Given the description of an element on the screen output the (x, y) to click on. 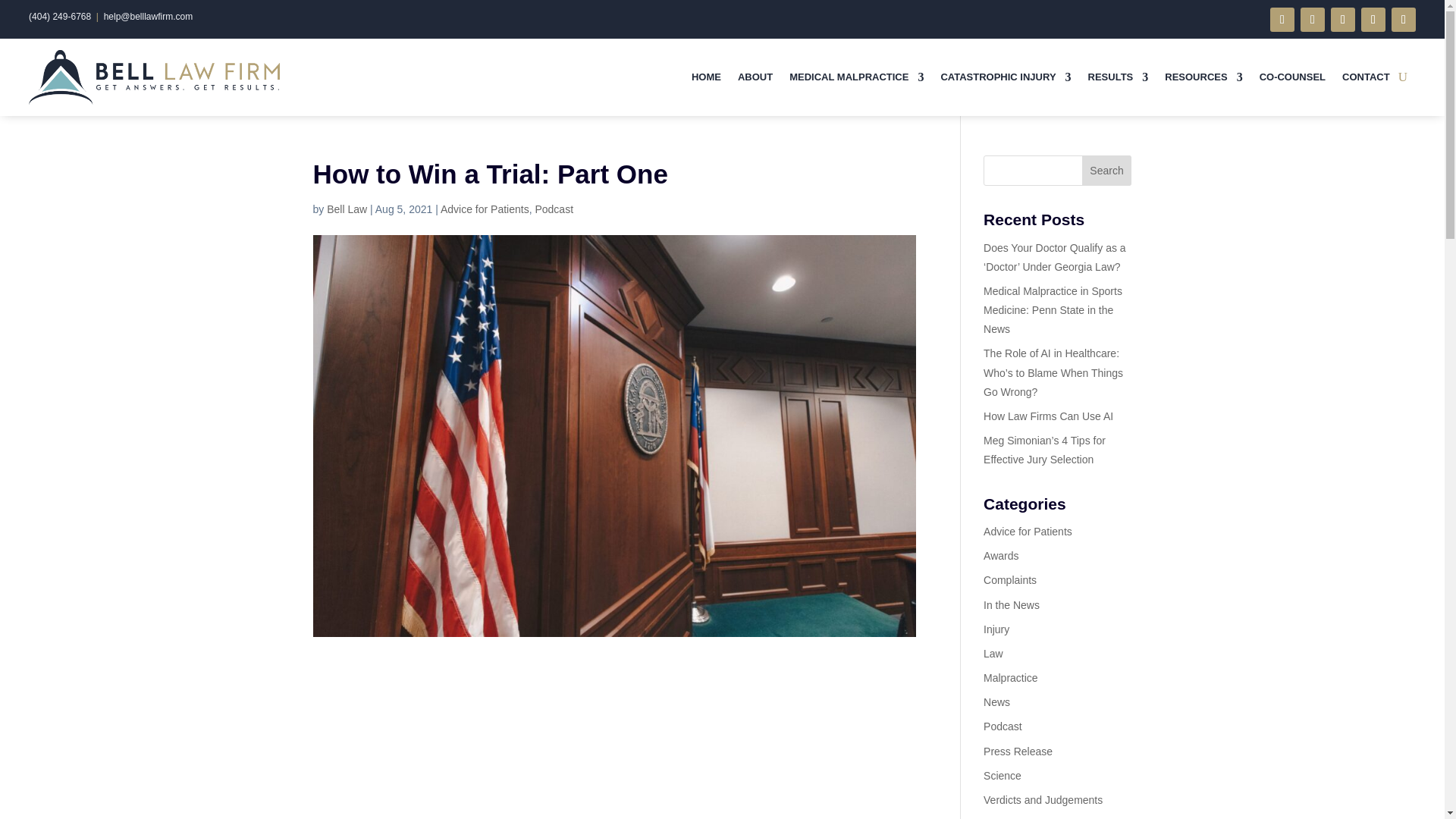
Search (1106, 170)
CATASTROPHIC INJURY (1005, 77)
RESULTS (1117, 77)
Follow on Facebook (1281, 19)
MEDICAL MALPRACTICE (856, 77)
Posts by Bell Law (346, 209)
Follow on Instagram (1403, 19)
RESOURCES (1202, 77)
Follow on LinkedIn (1373, 19)
CO-COUNSEL (1291, 77)
Follow on Twitter (1312, 19)
Follow on Podcast (1342, 19)
